Given the description of an element on the screen output the (x, y) to click on. 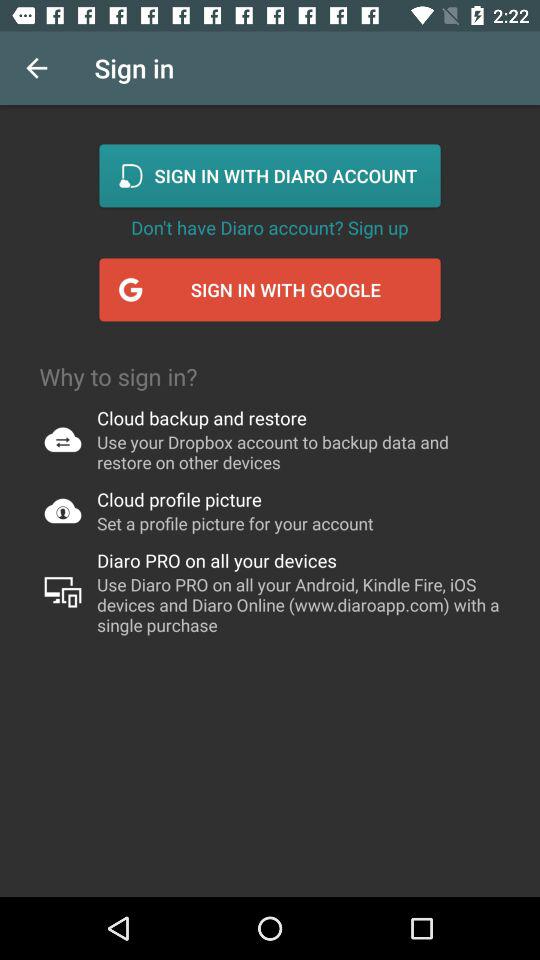
choose icon next to the sign in app (36, 68)
